Given the description of an element on the screen output the (x, y) to click on. 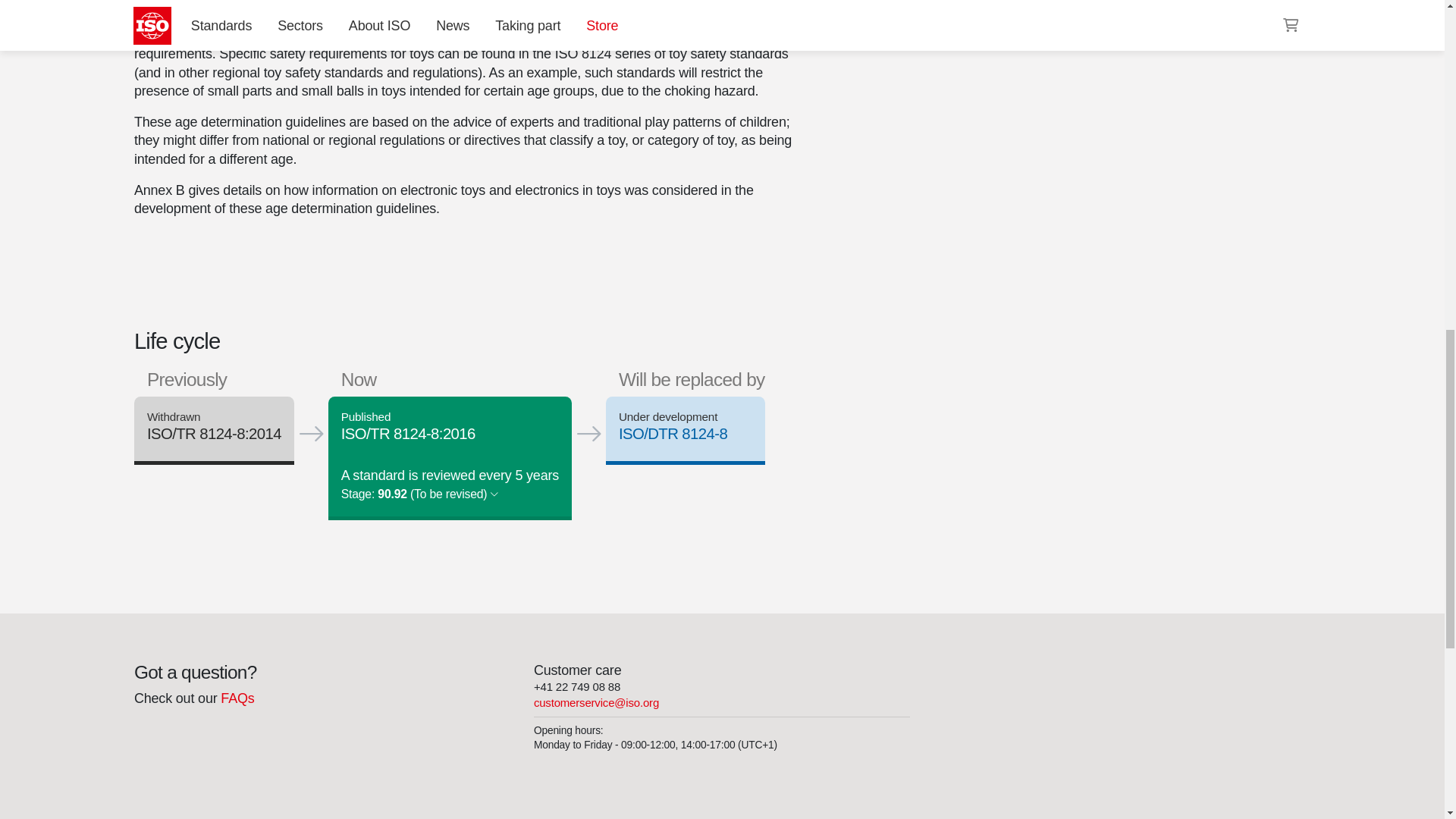
RSS (956, 25)
Toys (997, 1)
frequently-asked-questions-faqs (237, 698)
97.200.50 (997, 1)
